Given the description of an element on the screen output the (x, y) to click on. 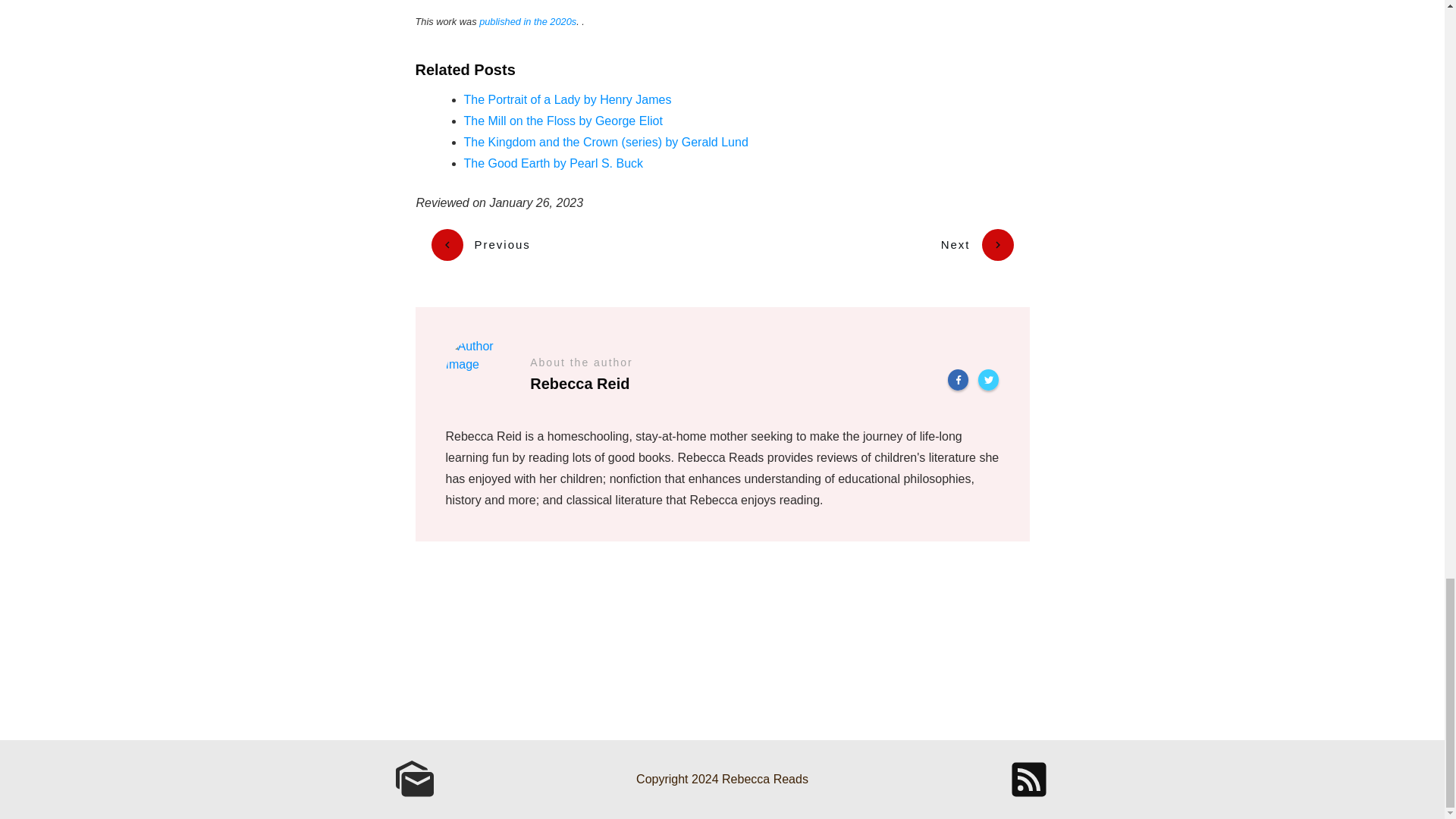
published in the 2020s (527, 21)
